Given the description of an element on the screen output the (x, y) to click on. 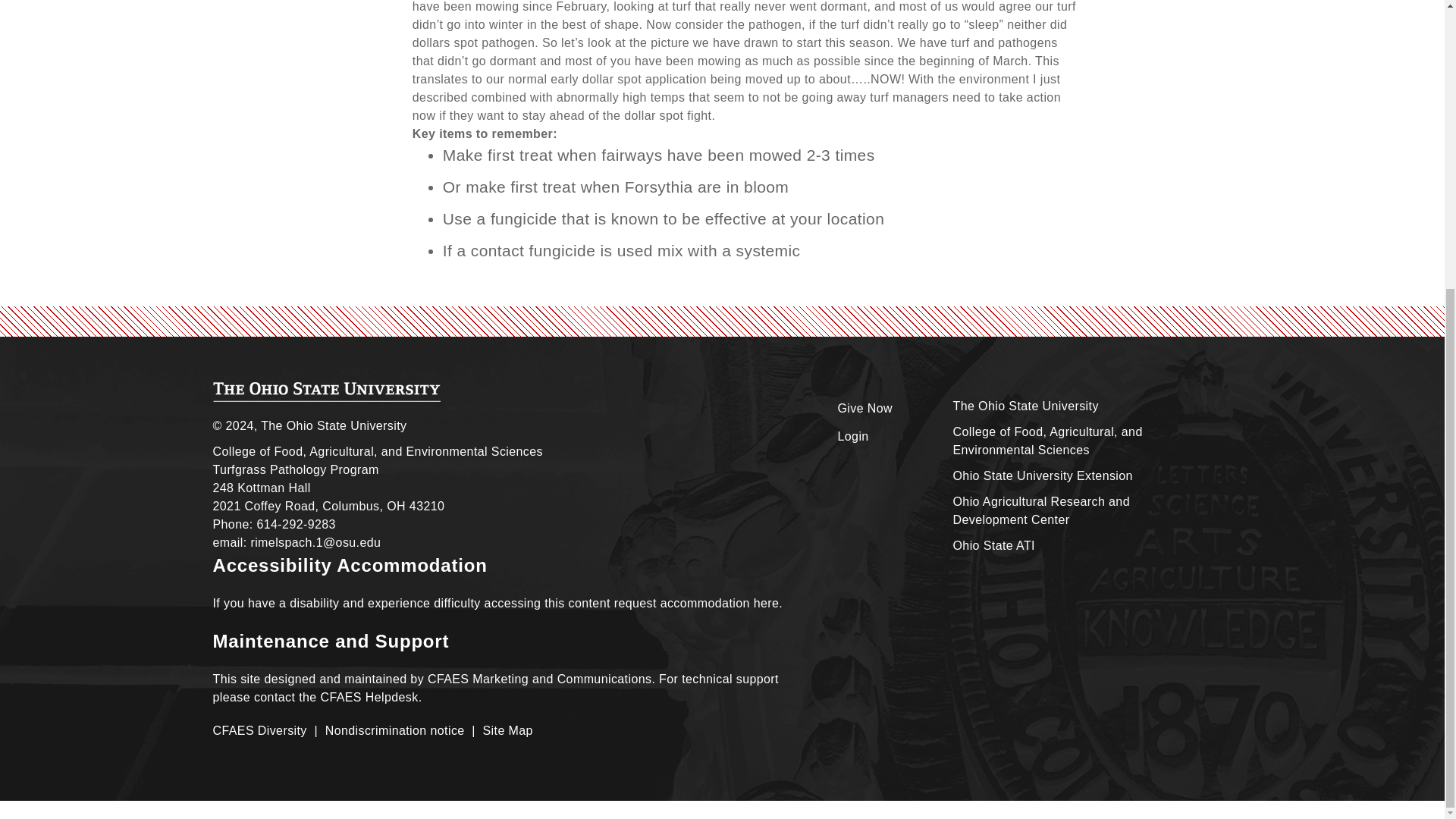
request accommodation here (696, 603)
CFAES Home (325, 392)
2021 Coffey Road, Columbus, OH 43210 (328, 505)
Accessibility Accommodation (349, 565)
248 Kottman Hall (261, 487)
